Given the description of an element on the screen output the (x, y) to click on. 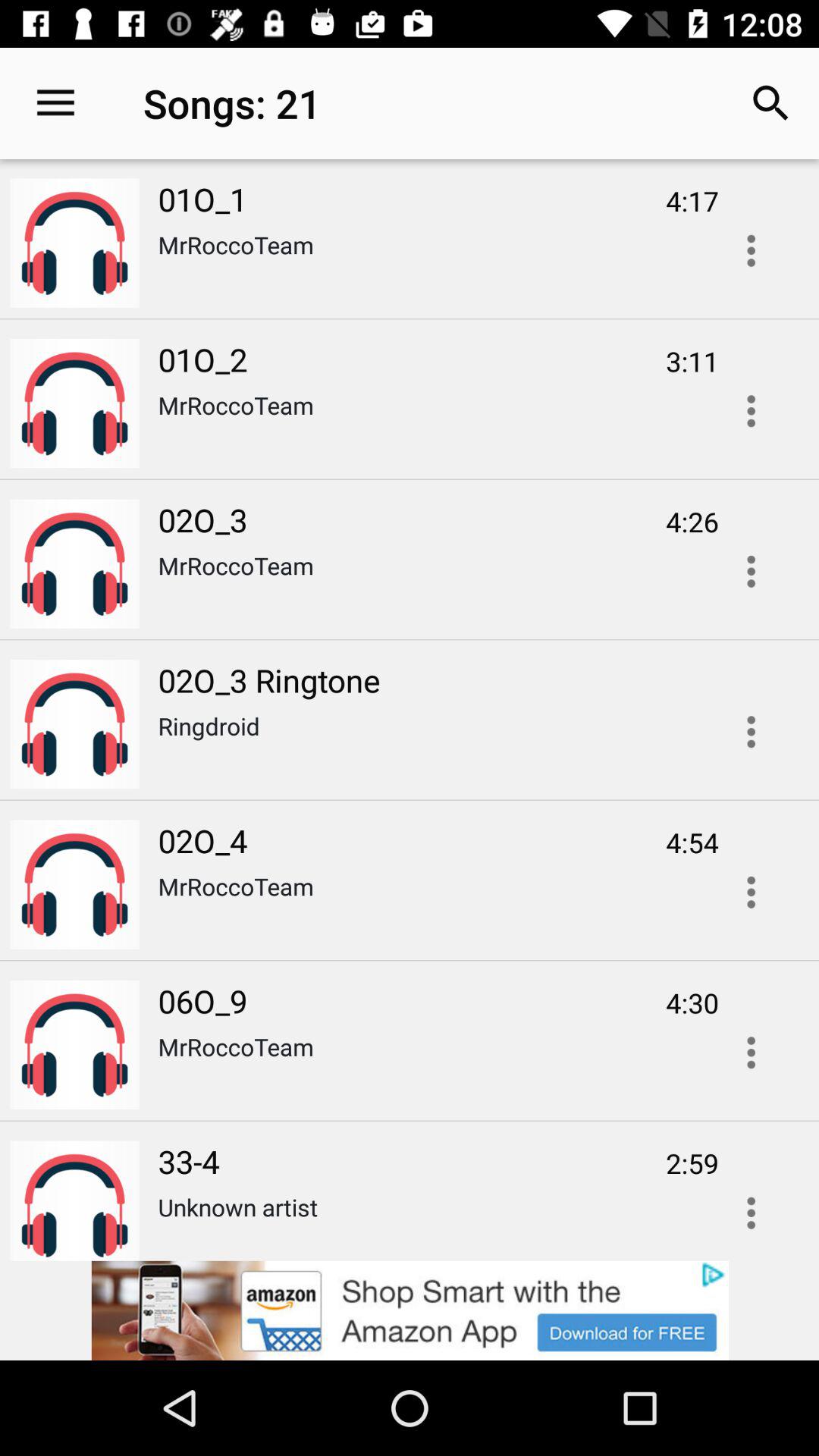
open advertisement page (409, 1310)
